Given the description of an element on the screen output the (x, y) to click on. 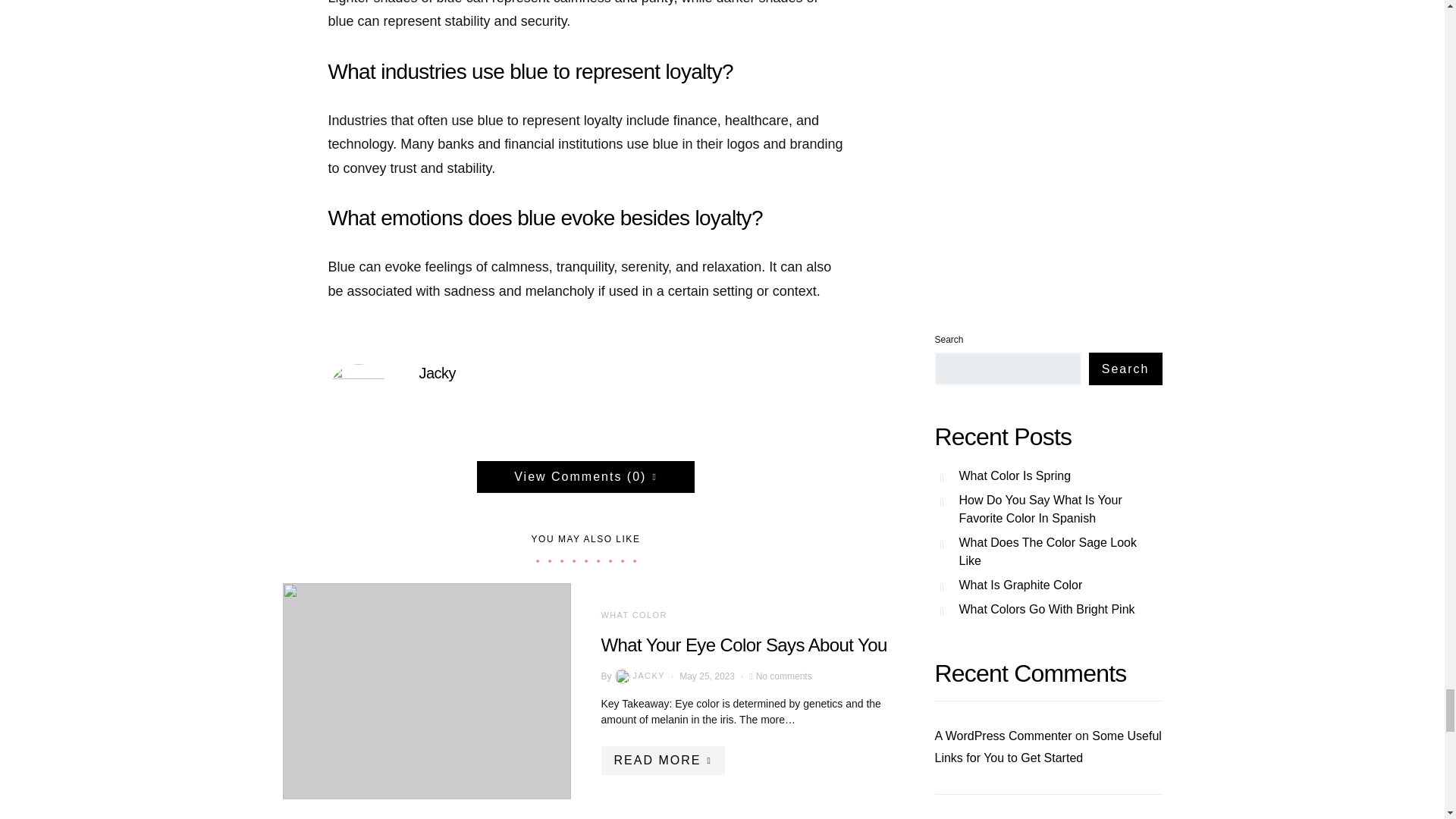
JACKY (638, 676)
WHAT COLOR (632, 614)
READ MORE (661, 760)
View all posts by Jacky (638, 676)
What Your Eye Color Says About You (742, 643)
Jacky (437, 372)
No comments (783, 675)
